Given the description of an element on the screen output the (x, y) to click on. 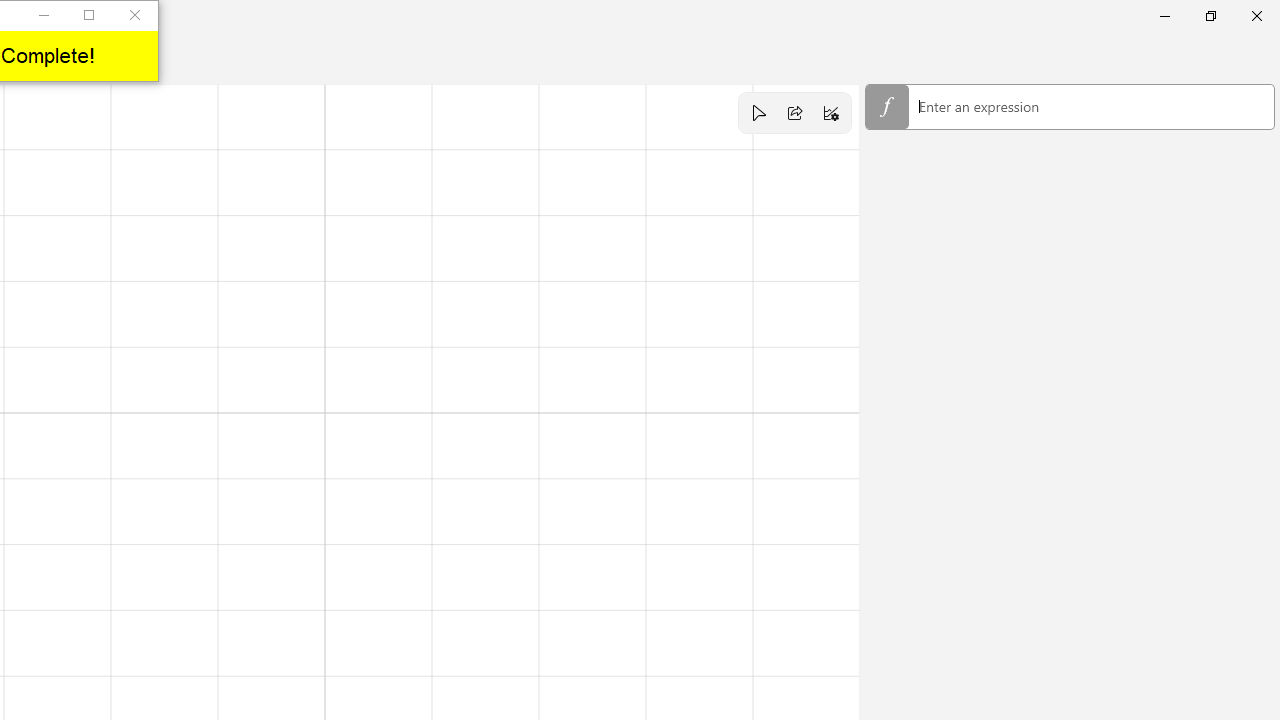
Share (795, 112)
Hide equation 1 (886, 106)
Close Calculator (1256, 15)
Graph options (831, 112)
Restore Calculator (1210, 15)
Minimize Calculator (1164, 15)
Start tracing (758, 112)
Open the context menu for available actions (1090, 106)
Function input (1070, 107)
